Given the description of an element on the screen output the (x, y) to click on. 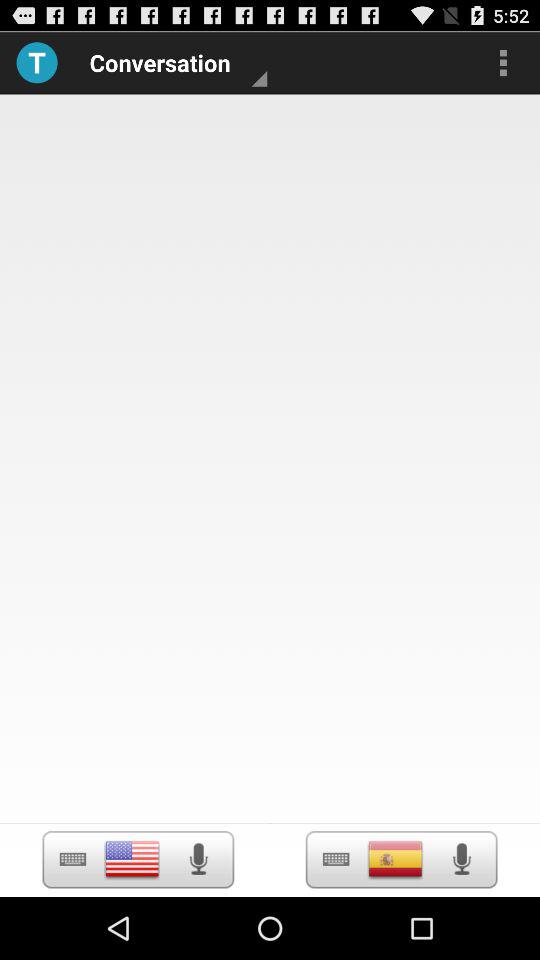
toggle the settings option (72, 859)
